Given the description of an element on the screen output the (x, y) to click on. 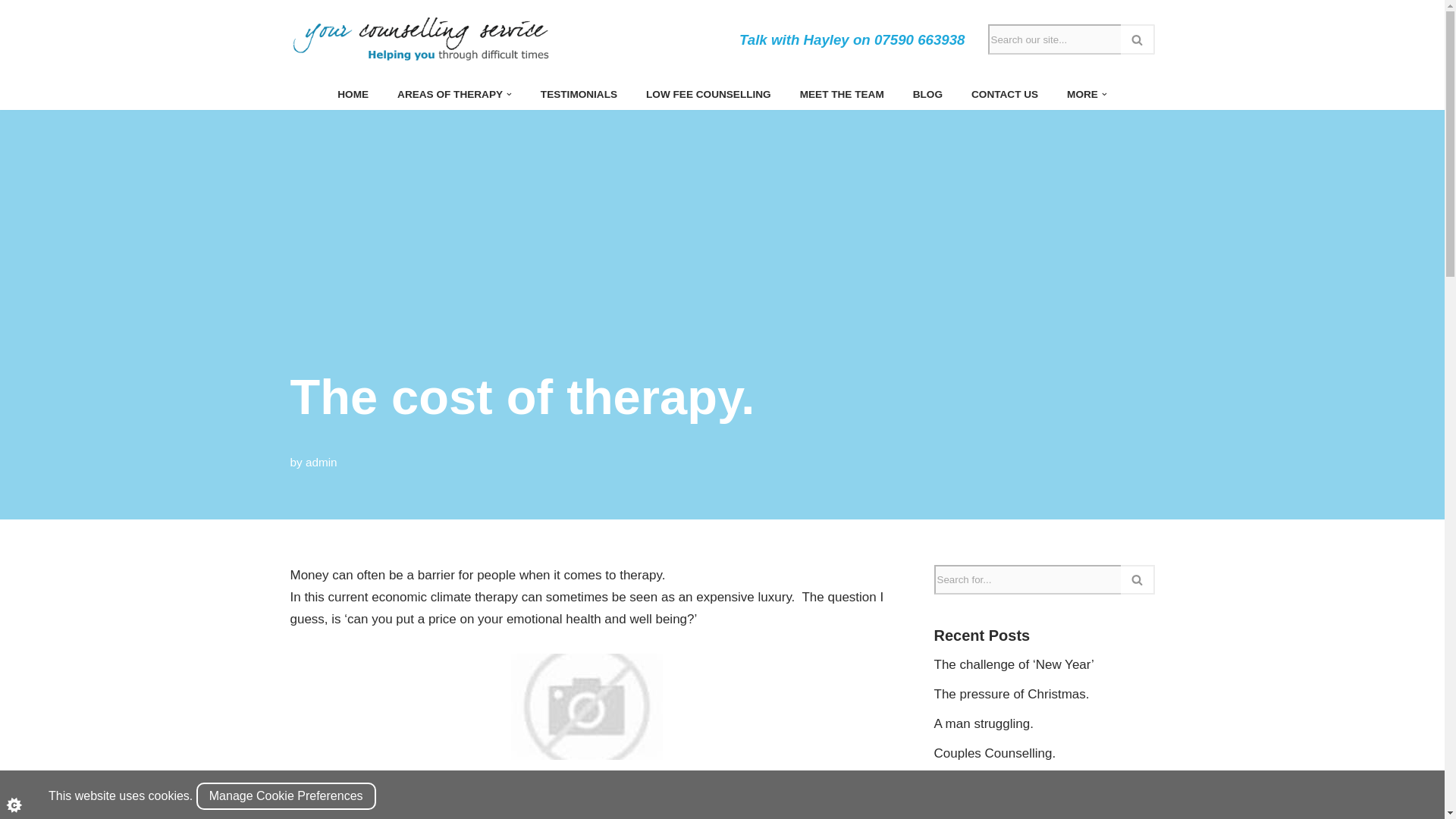
CONTACT US (1004, 94)
HOME (352, 94)
LOW FEE COUNSELLING (708, 94)
Talk with Hayley on 07590 663938 (851, 39)
BLOG (927, 94)
TESTIMONIALS (578, 94)
Posts by admin (321, 461)
AREAS OF THERAPY (449, 94)
Skip to content (11, 31)
MEET THE TEAM (841, 94)
MORE (1082, 94)
